Given the description of an element on the screen output the (x, y) to click on. 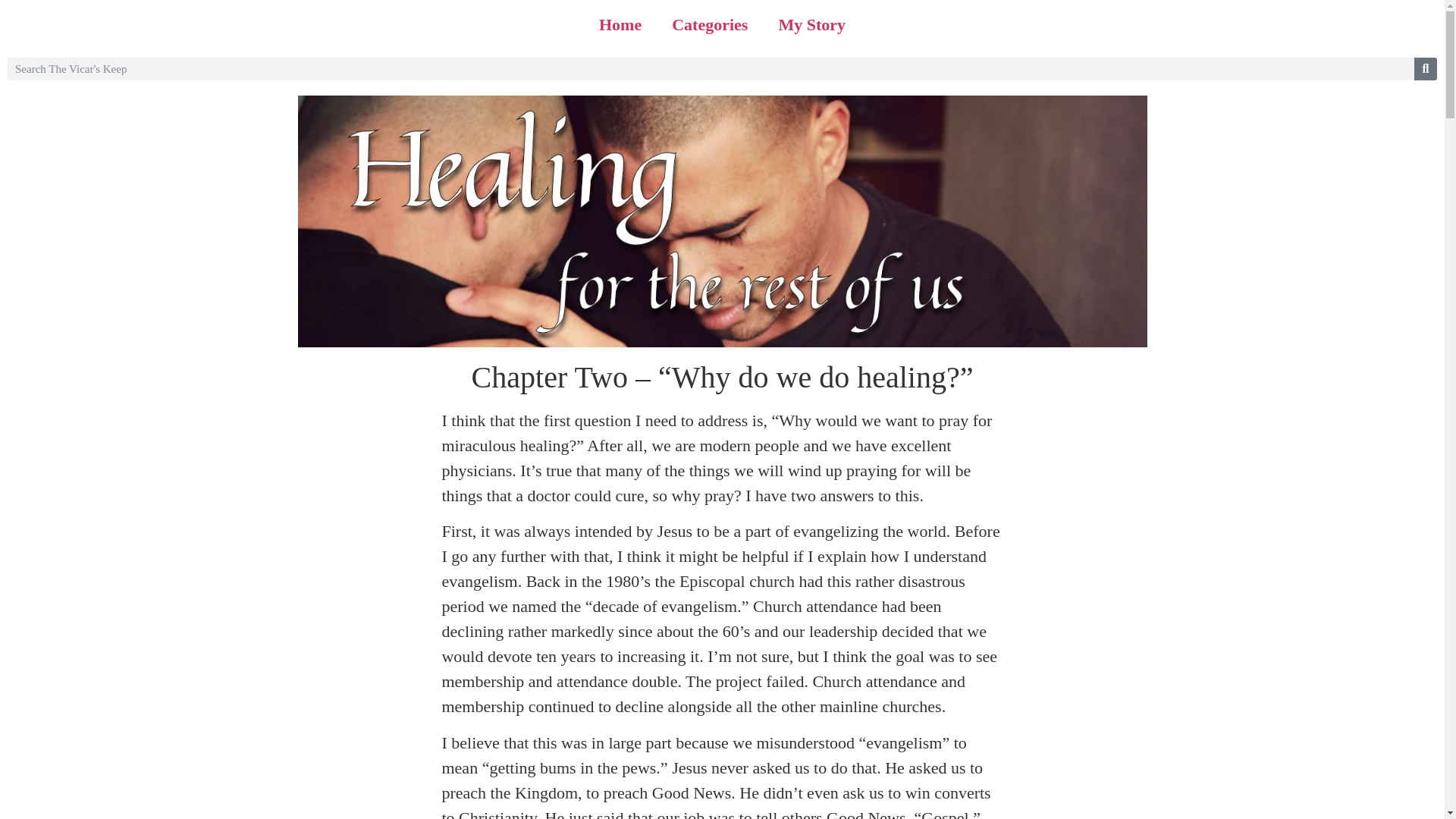
Home (619, 24)
Categories (709, 24)
My Story (811, 24)
